Given the description of an element on the screen output the (x, y) to click on. 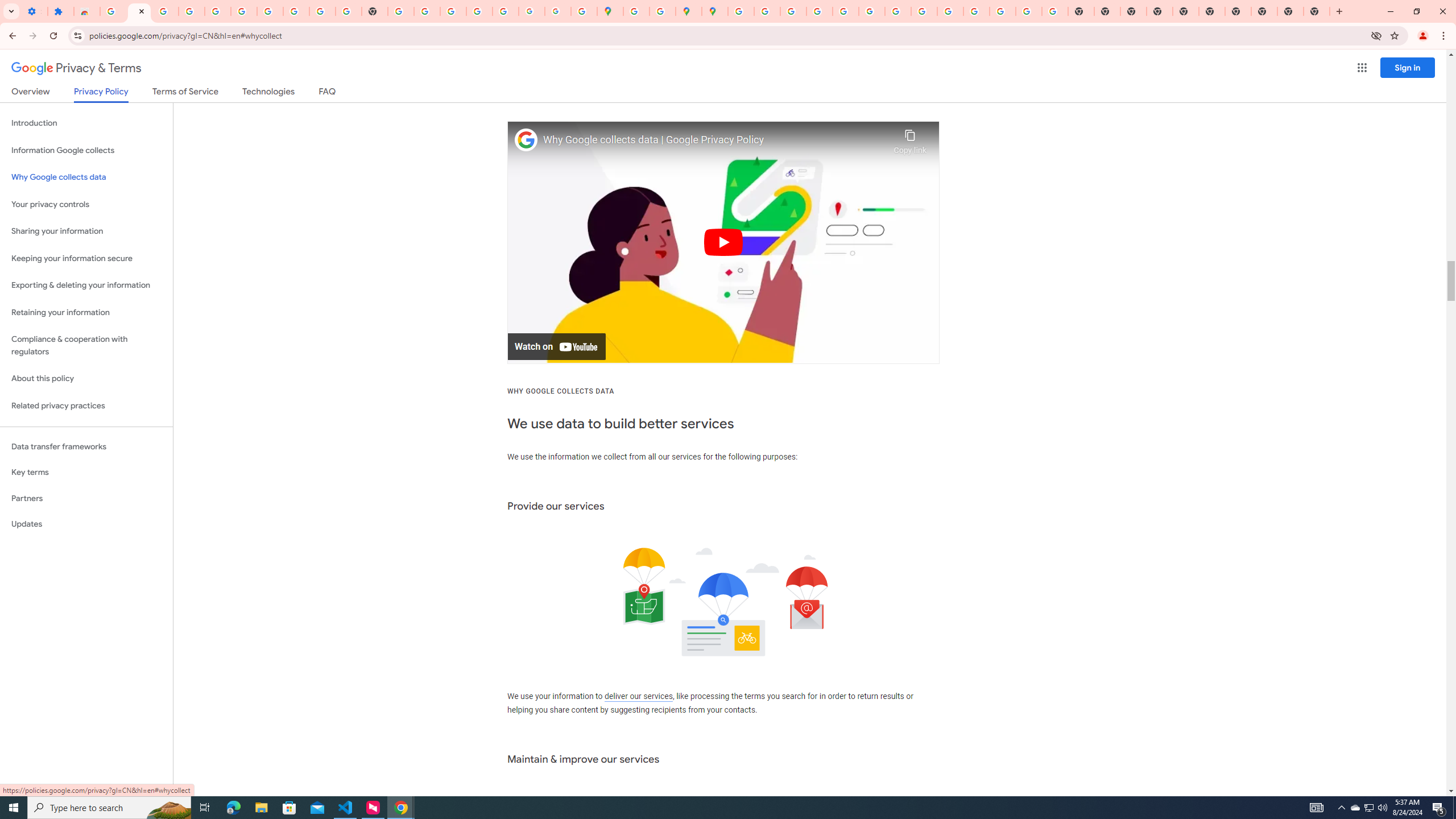
Sign in - Google Accounts (112, 11)
Safety in Our Products - Google Safety Center (663, 11)
Retaining your information (86, 312)
Google Account (296, 11)
